Given the description of an element on the screen output the (x, y) to click on. 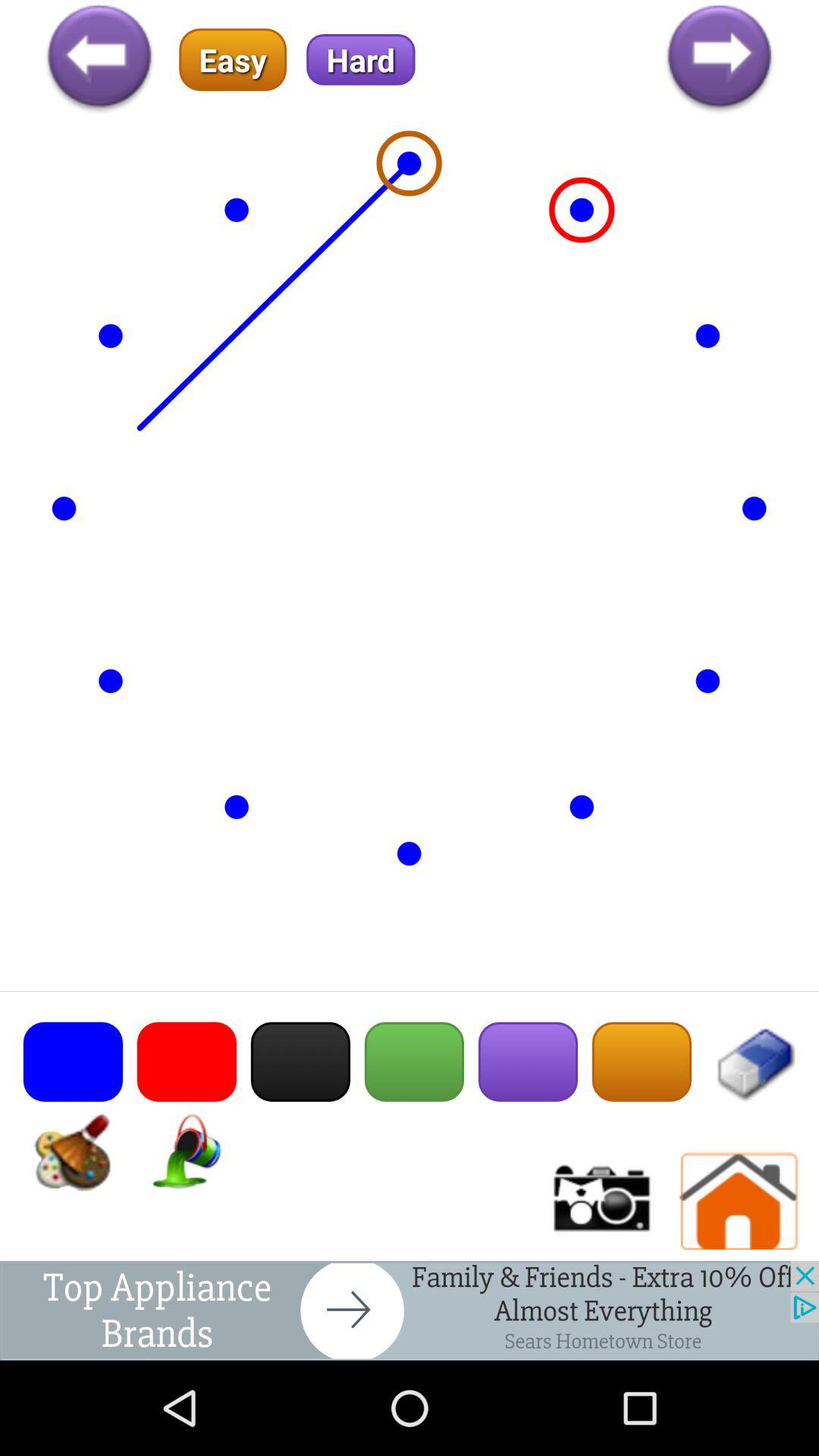
go to camera (599, 1200)
